Given the description of an element on the screen output the (x, y) to click on. 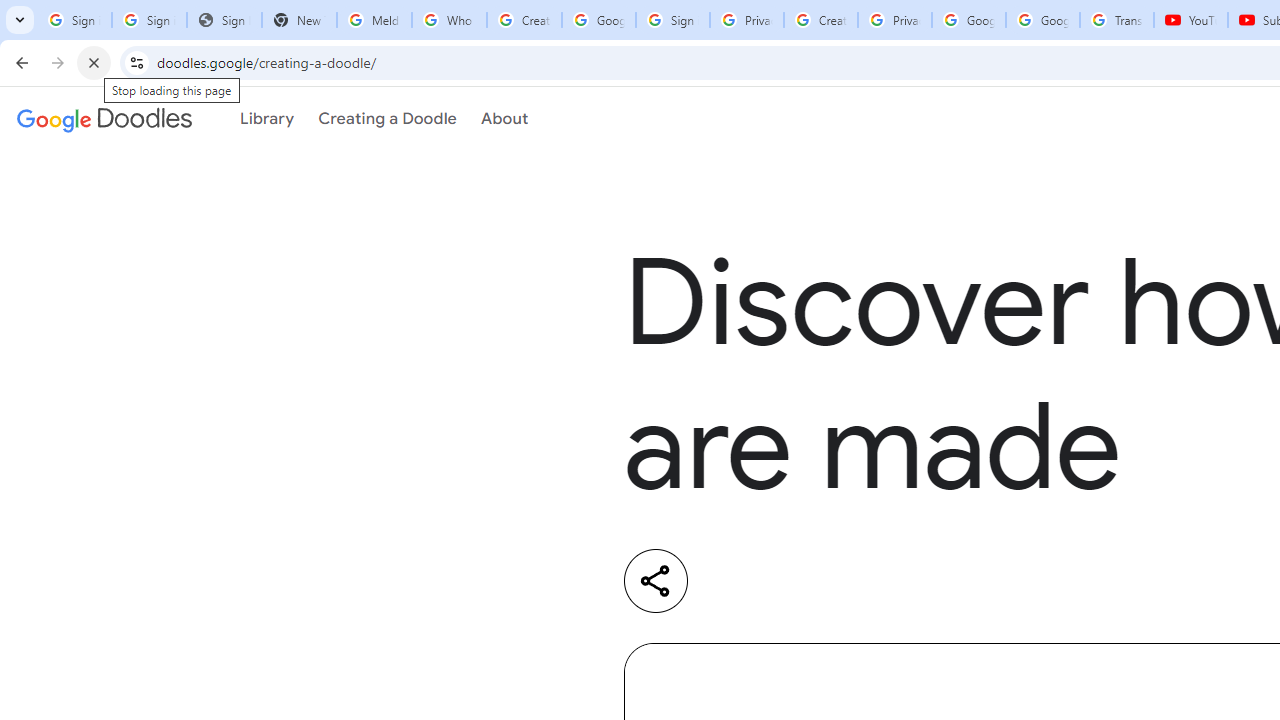
YouTube (1190, 20)
Sign in - Google Accounts (148, 20)
Create your Google Account (523, 20)
New Tab (299, 20)
